Given the description of an element on the screen output the (x, y) to click on. 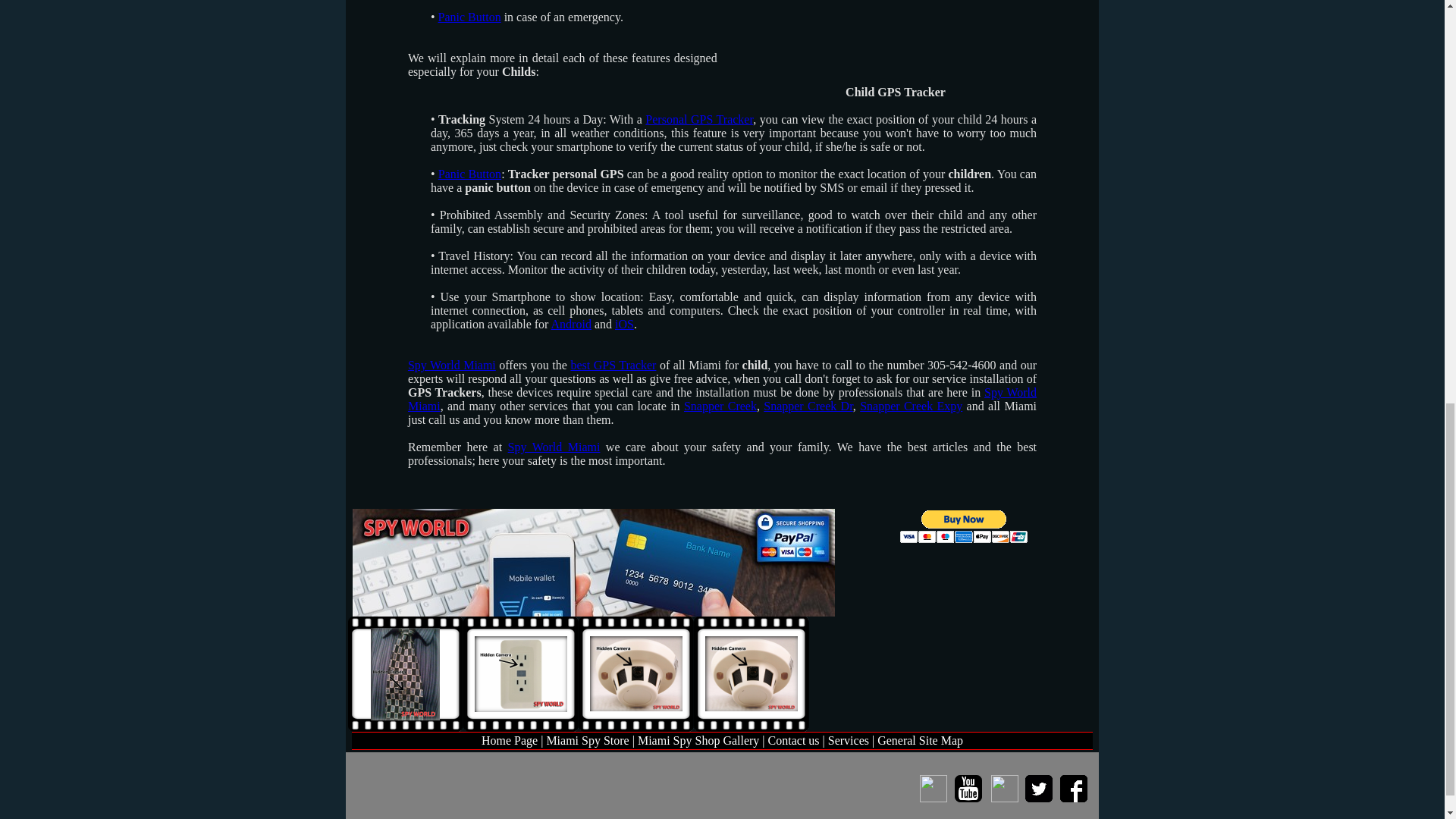
iOS (623, 323)
Snapper Creek (720, 405)
Personal GPS Tracker (698, 119)
best GPS Tracker (613, 364)
Panic Button (469, 16)
Snapper Creek Dr (807, 405)
Spy World Miami (553, 446)
Spy World Miami (721, 398)
Snapper Creek Expy (911, 405)
Panic Button (469, 173)
